Given the description of an element on the screen output the (x, y) to click on. 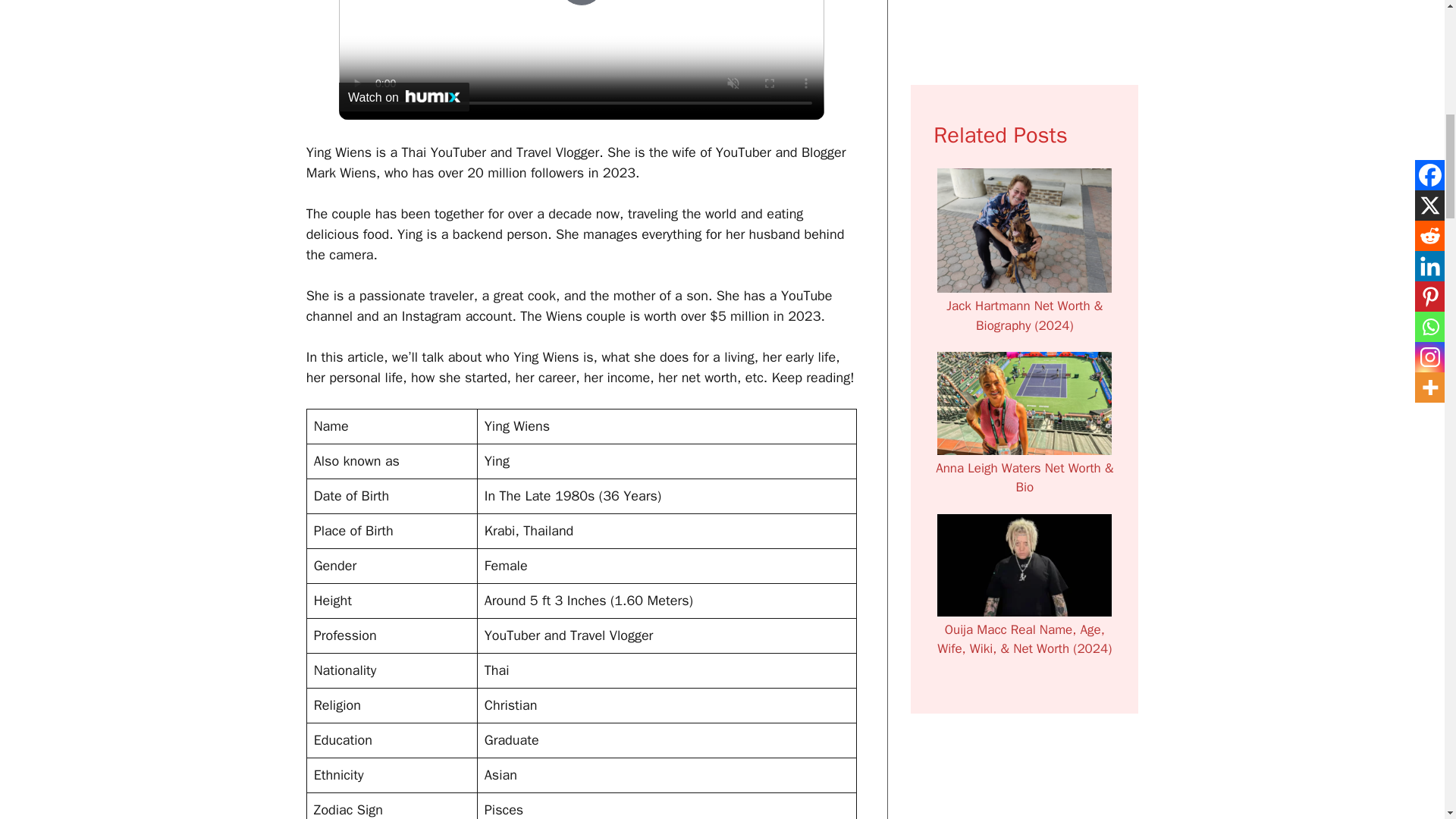
Play Video (581, 2)
Play Video (581, 2)
Watch on (403, 96)
